Given the description of an element on the screen output the (x, y) to click on. 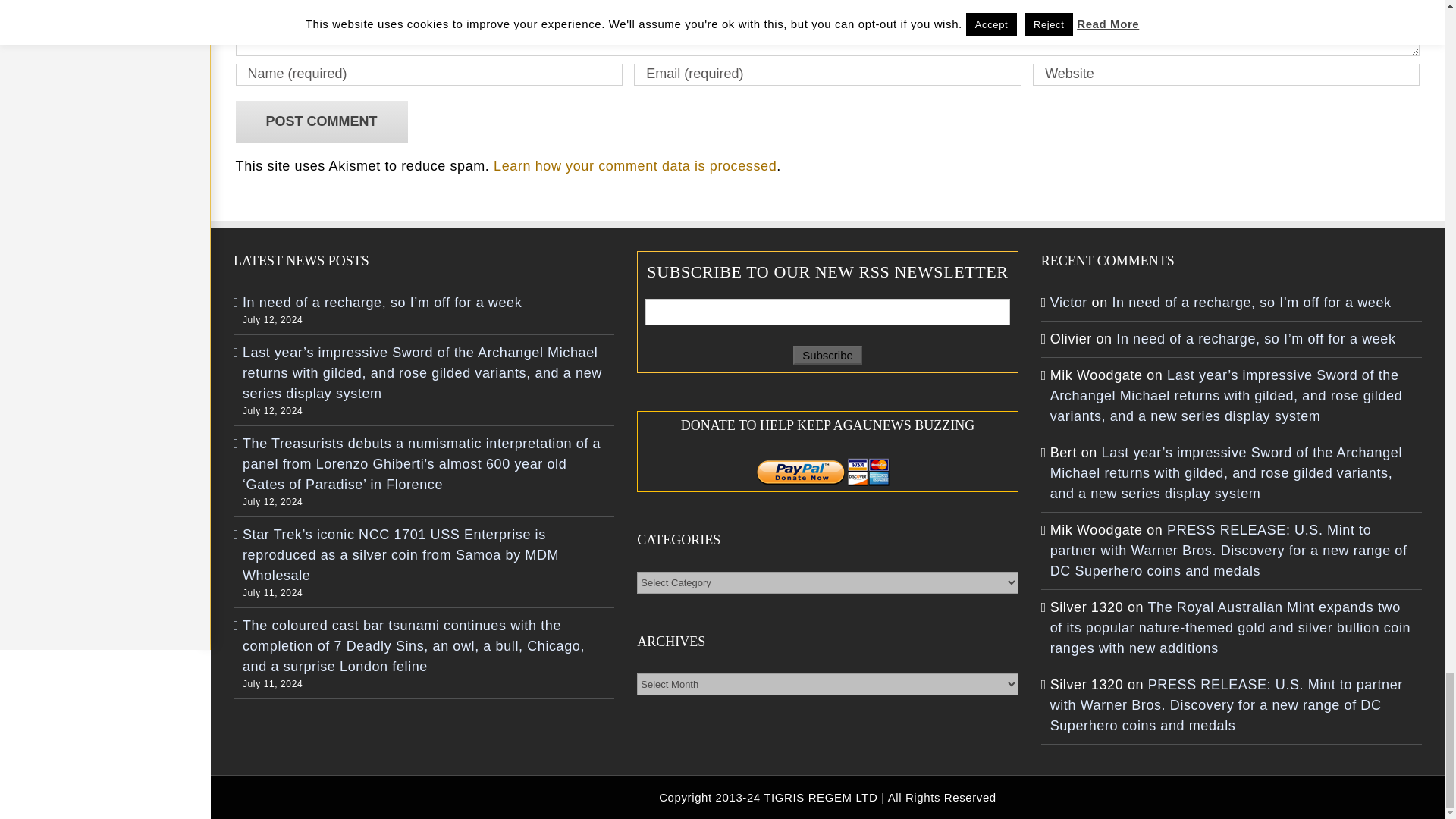
Post Comment (321, 121)
Subscribe (827, 354)
